Given the description of an element on the screen output the (x, y) to click on. 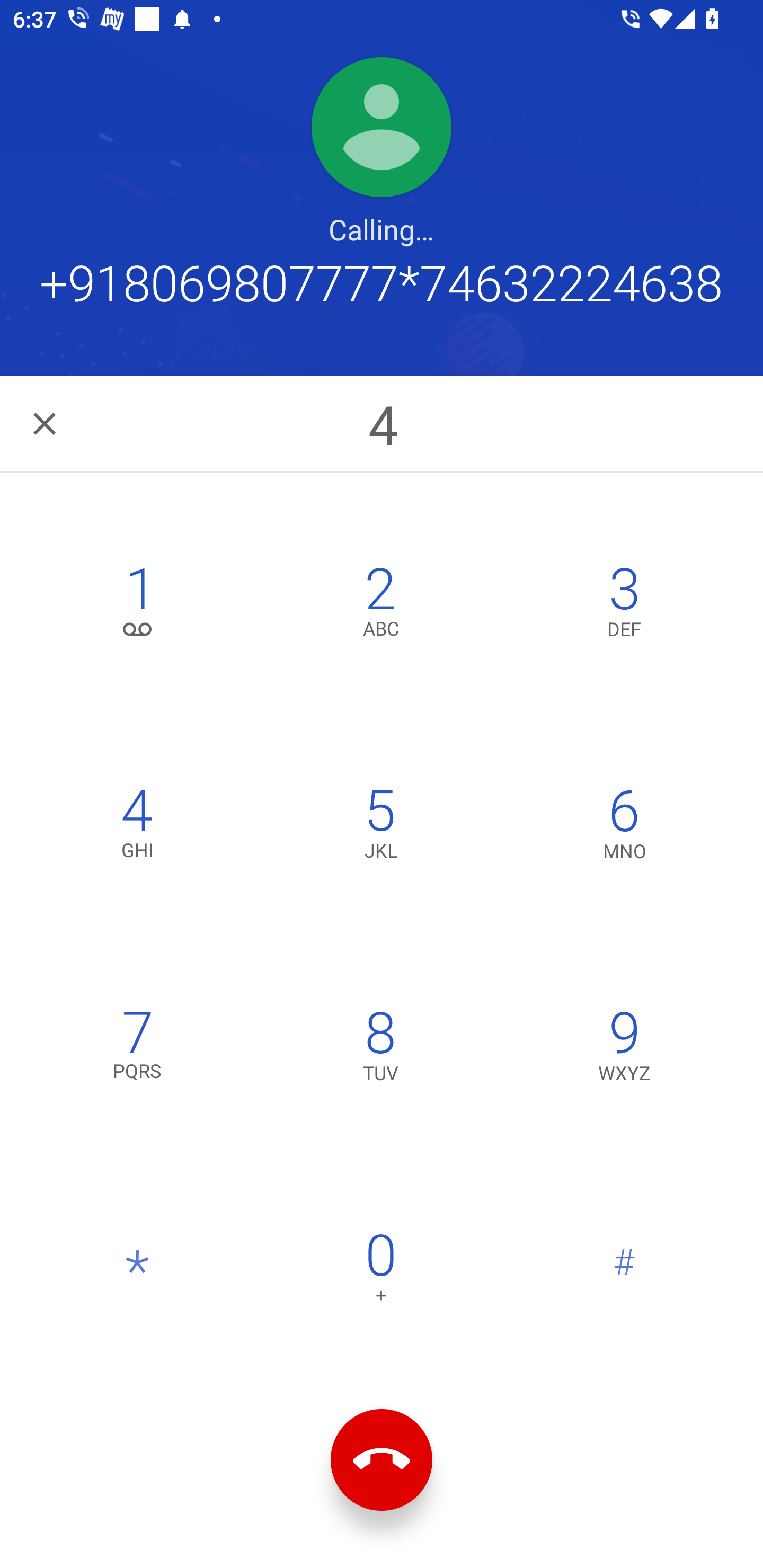
4 (382, 423)
Navigate back (45, 423)
1, 1 (137, 605)
2,ABC 2 ABC (380, 605)
3,DEF 3 DEF (624, 605)
4,GHI 4 GHI (137, 827)
5,JKL 5 JKL (380, 827)
6,MNO 6 MNO (624, 827)
7,PQRS 7 PQRS (137, 1050)
8,TUV 8 TUV (380, 1050)
9,WXYZ 9 WXYZ (624, 1050)
* (137, 1271)
0 0 + (380, 1271)
# (624, 1271)
End call (381, 1460)
